Given the description of an element on the screen output the (x, y) to click on. 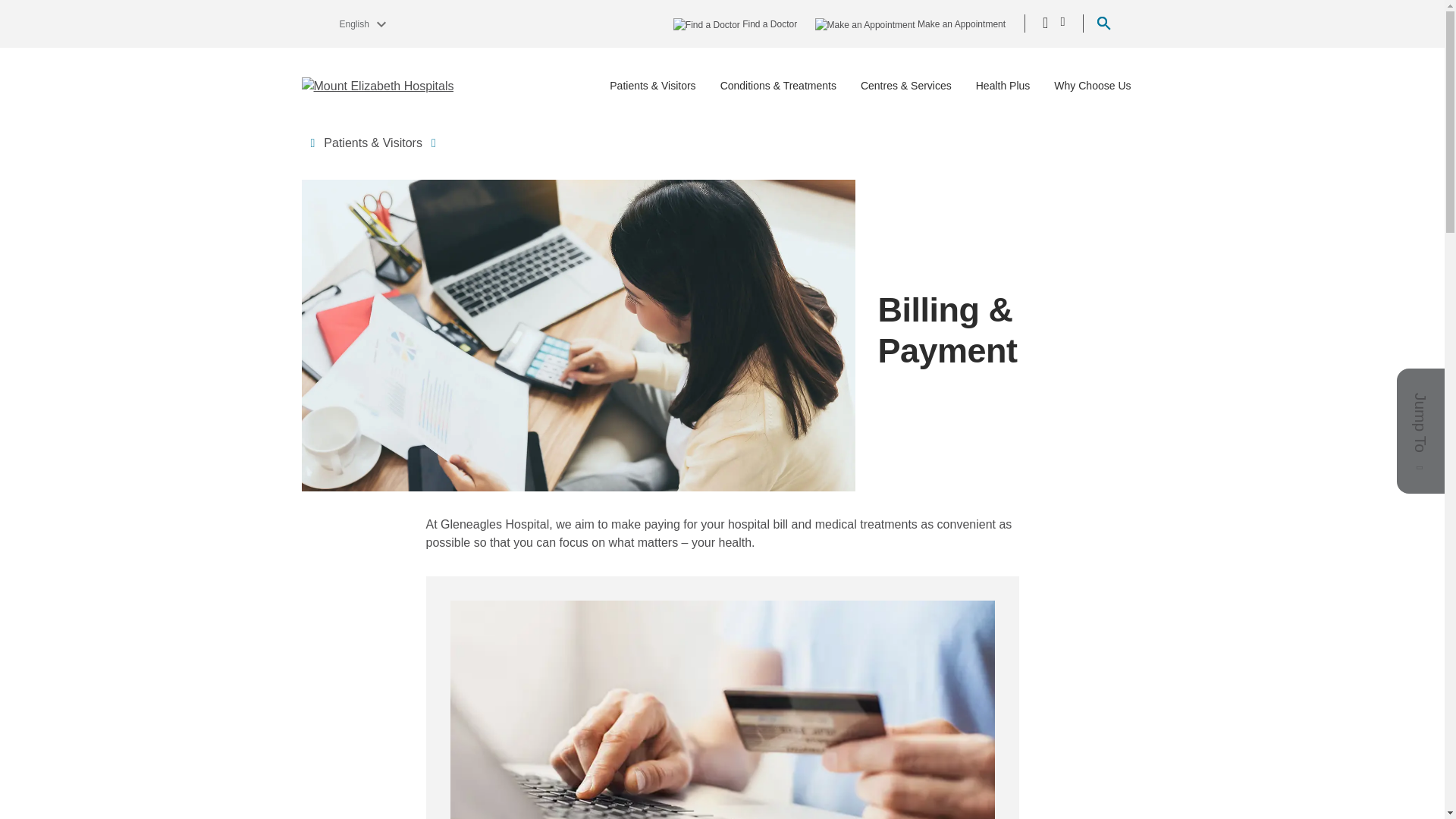
Why Choose Us (1092, 86)
English (355, 23)
Health Plus (1002, 86)
